Given the description of an element on the screen output the (x, y) to click on. 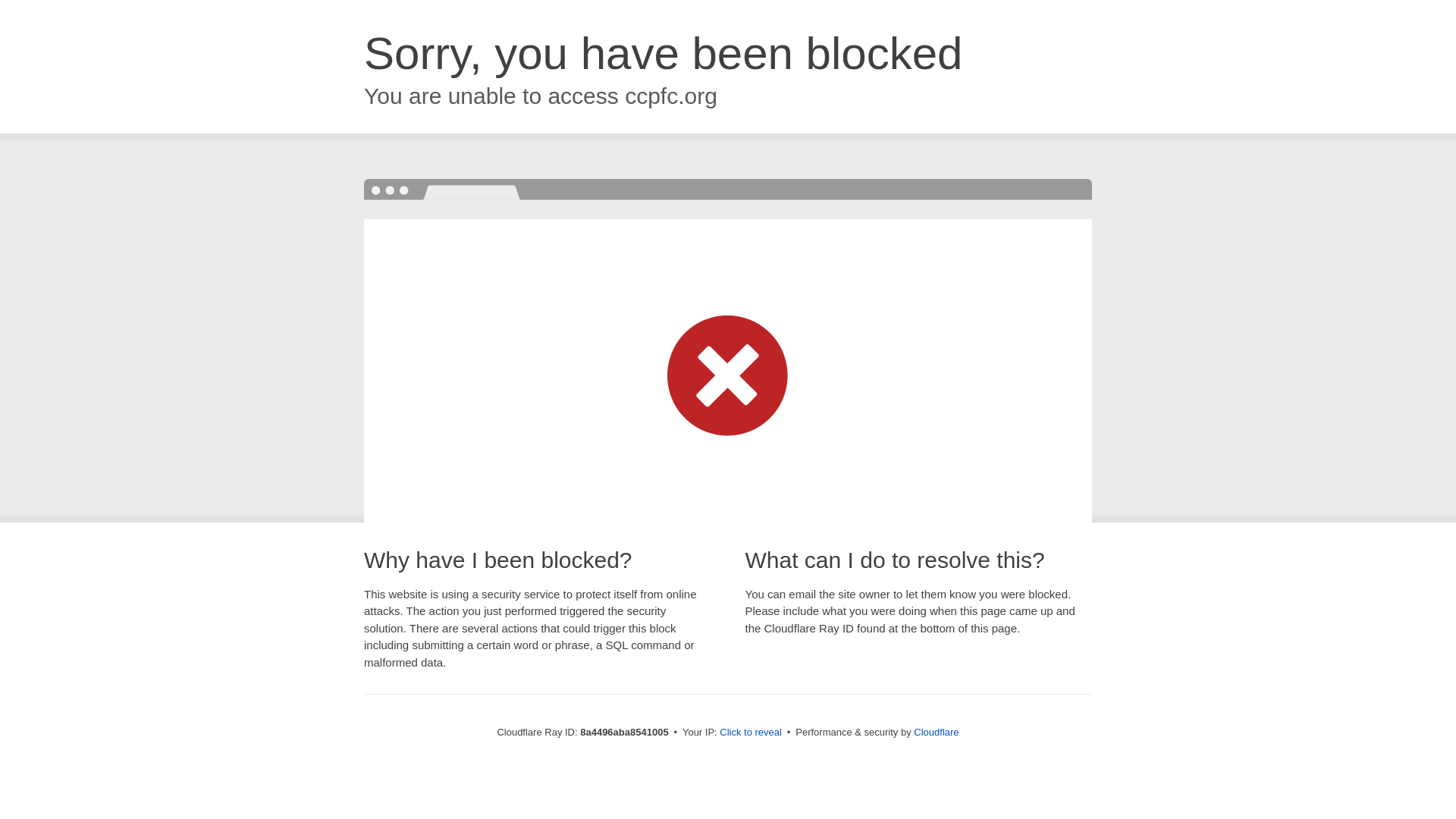
Cloudflare (936, 731)
Click to reveal (750, 732)
